Given the description of an element on the screen output the (x, y) to click on. 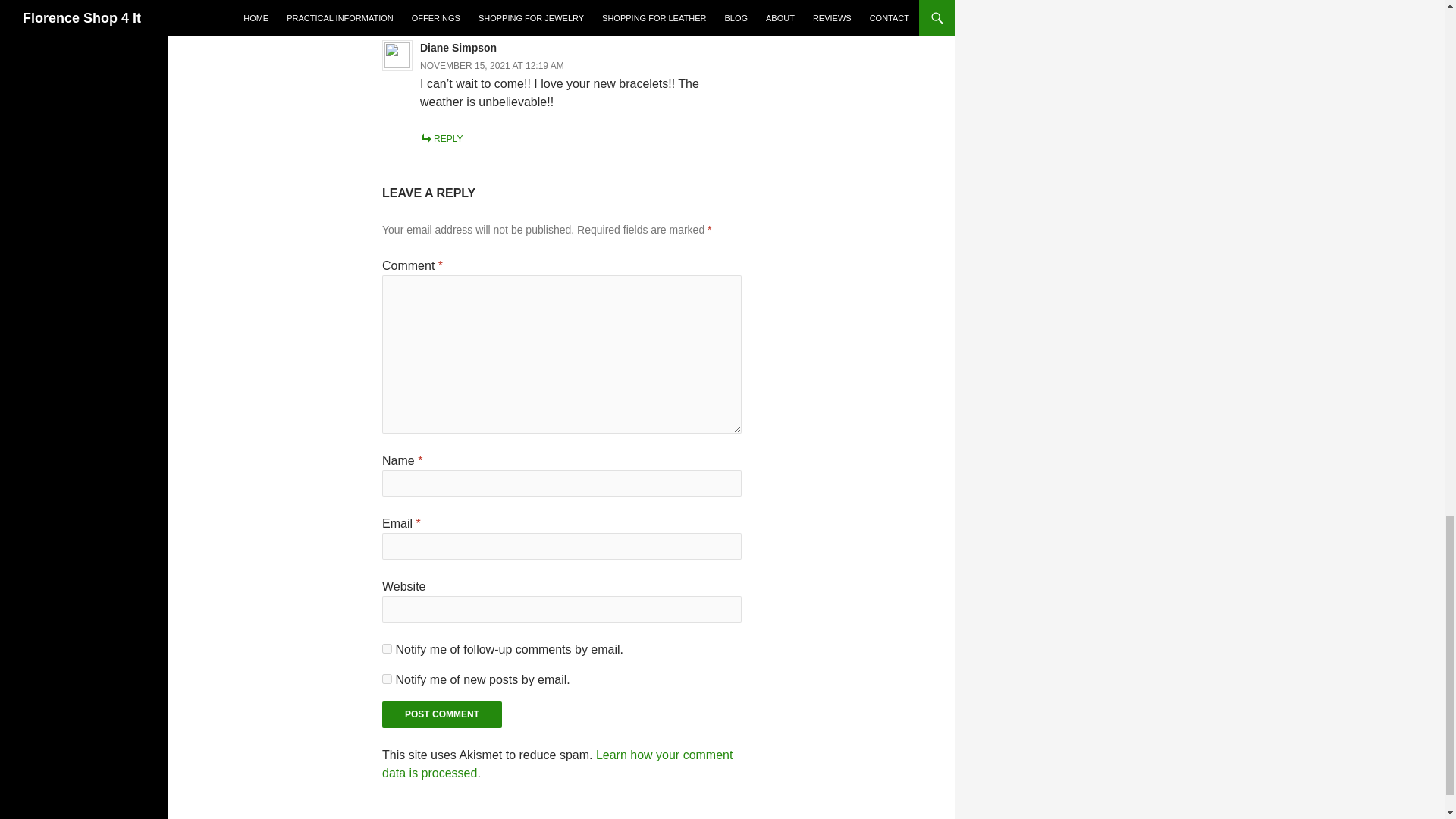
Learn how your comment data is processed (556, 763)
REPLY (441, 138)
subscribe (386, 678)
subscribe (386, 648)
Post Comment (441, 714)
NOVEMBER 15, 2021 AT 12:19 AM (492, 65)
Post Comment (441, 714)
